Given the description of an element on the screen output the (x, y) to click on. 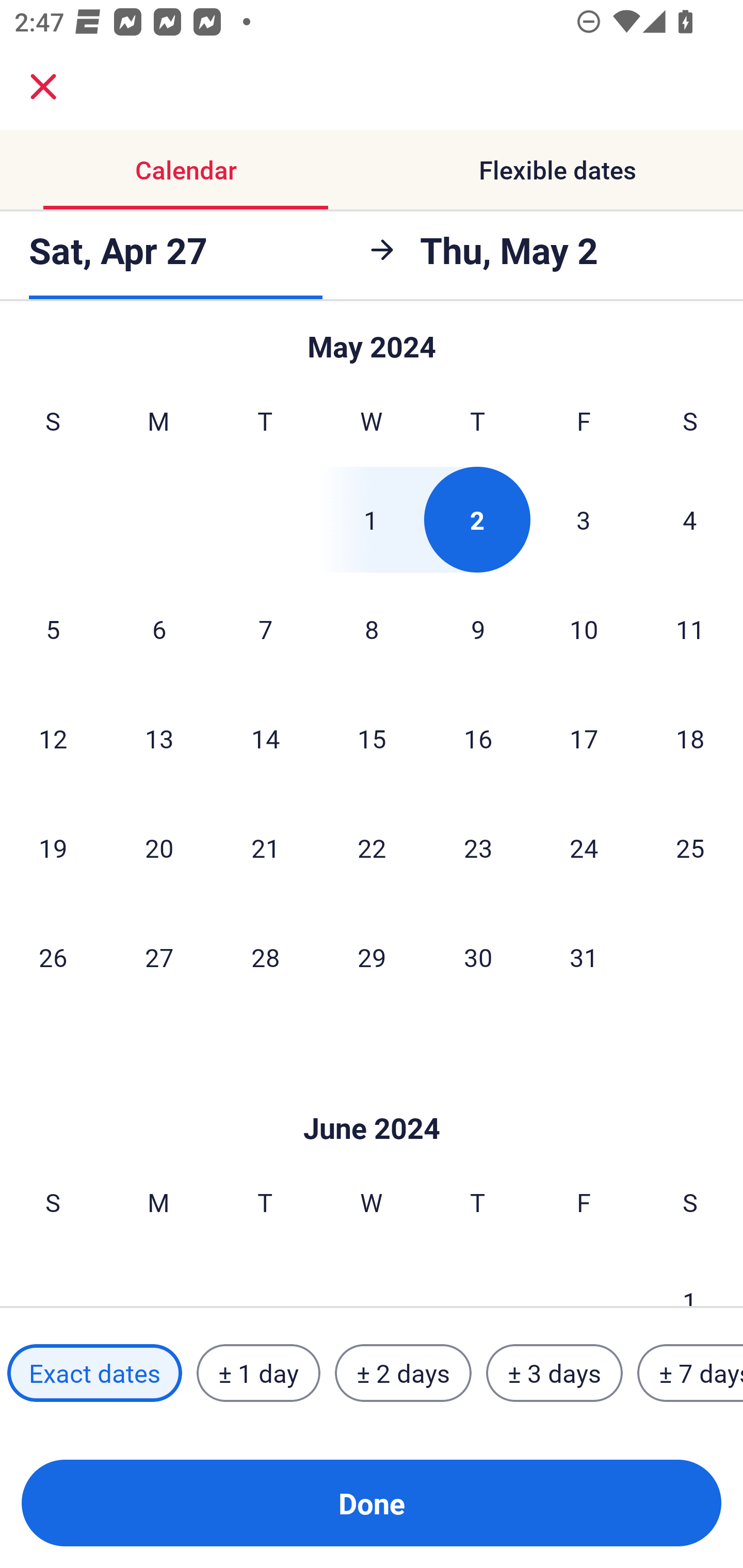
close. (43, 86)
Flexible dates (557, 170)
3 Friday, May 3, 2024 (583, 519)
4 Saturday, May 4, 2024 (689, 519)
5 Sunday, May 5, 2024 (53, 628)
6 Monday, May 6, 2024 (159, 628)
7 Tuesday, May 7, 2024 (265, 628)
8 Wednesday, May 8, 2024 (371, 628)
9 Thursday, May 9, 2024 (477, 628)
10 Friday, May 10, 2024 (584, 628)
11 Saturday, May 11, 2024 (690, 628)
12 Sunday, May 12, 2024 (53, 738)
13 Monday, May 13, 2024 (159, 738)
14 Tuesday, May 14, 2024 (265, 738)
15 Wednesday, May 15, 2024 (371, 738)
16 Thursday, May 16, 2024 (477, 738)
17 Friday, May 17, 2024 (584, 738)
18 Saturday, May 18, 2024 (690, 738)
19 Sunday, May 19, 2024 (53, 847)
20 Monday, May 20, 2024 (159, 847)
21 Tuesday, May 21, 2024 (265, 847)
22 Wednesday, May 22, 2024 (371, 847)
23 Thursday, May 23, 2024 (477, 847)
24 Friday, May 24, 2024 (584, 847)
25 Saturday, May 25, 2024 (690, 847)
26 Sunday, May 26, 2024 (53, 956)
27 Monday, May 27, 2024 (159, 956)
28 Tuesday, May 28, 2024 (265, 956)
29 Wednesday, May 29, 2024 (371, 956)
30 Thursday, May 30, 2024 (477, 956)
31 Friday, May 31, 2024 (584, 956)
Skip to Done (371, 1097)
Exact dates (94, 1372)
± 1 day (258, 1372)
± 2 days (403, 1372)
± 3 days (553, 1372)
± 7 days (690, 1372)
Done (371, 1502)
